Given the description of an element on the screen output the (x, y) to click on. 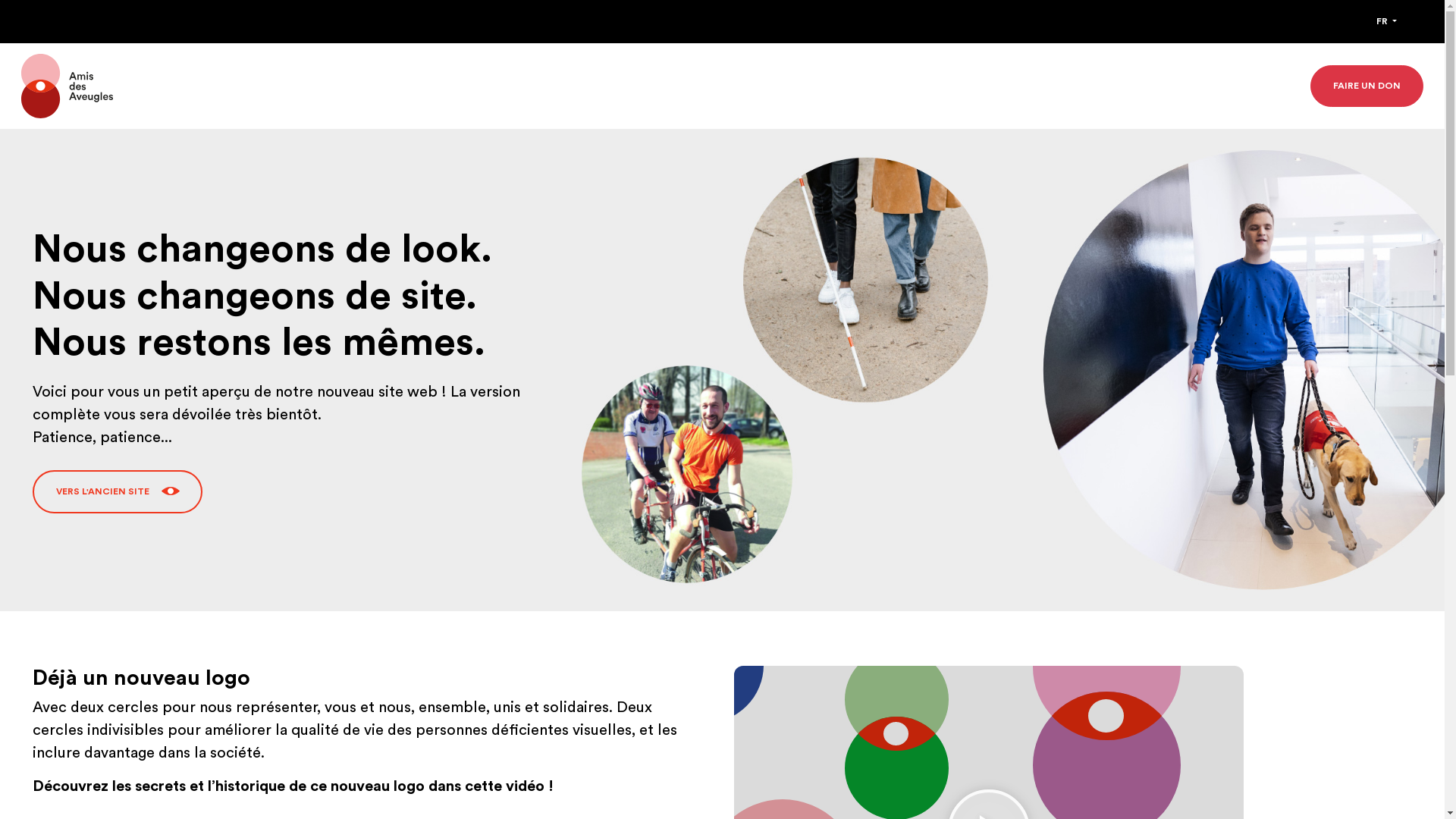
VERS L'ANCIEN SITE Element type: text (117, 491)
FR Element type: text (1386, 21)
FAIRE UN DON Element type: text (1366, 85)
